Given the description of an element on the screen output the (x, y) to click on. 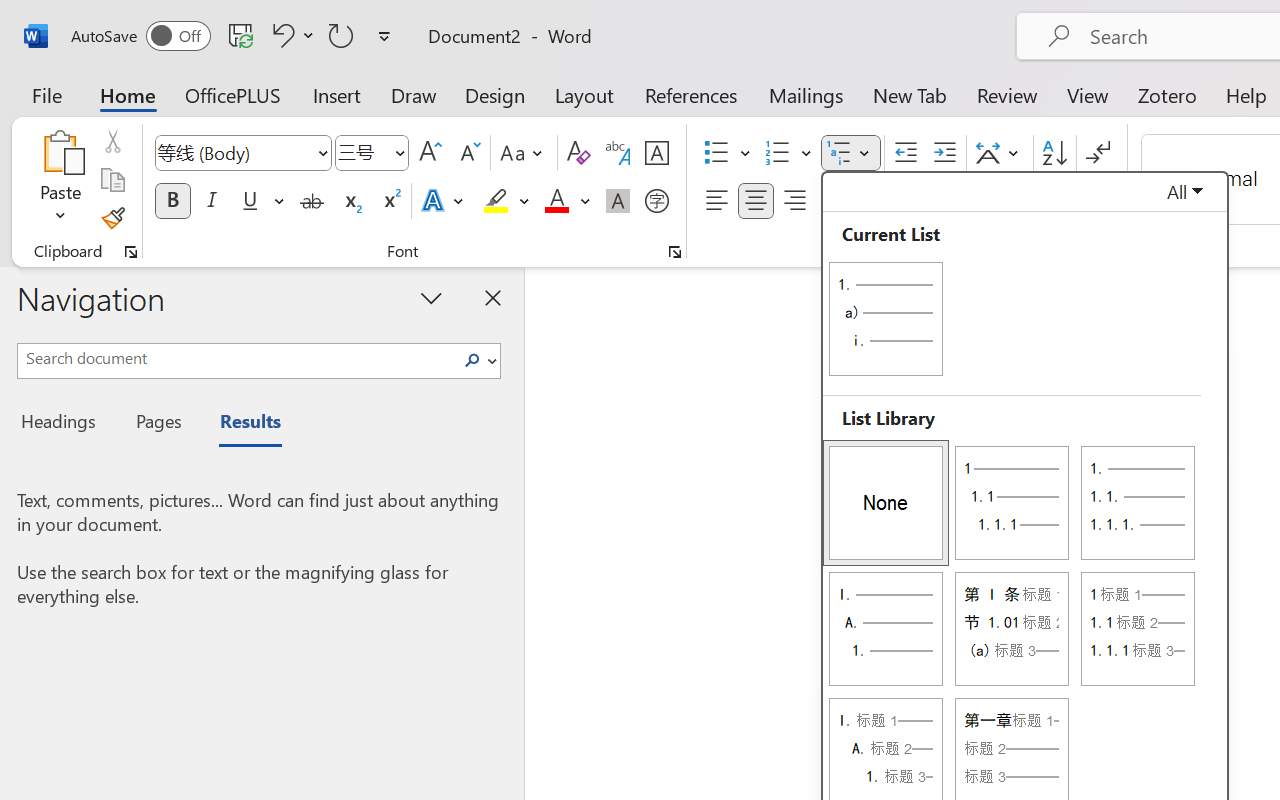
Shrink Font (468, 153)
Bold (172, 201)
Numbering (778, 153)
Draw (413, 94)
Show/Hide Editing Marks (1098, 153)
Zotero (1166, 94)
Strikethrough (312, 201)
Align Left (716, 201)
Increase Indent (944, 153)
Results (240, 424)
